Given the description of an element on the screen output the (x, y) to click on. 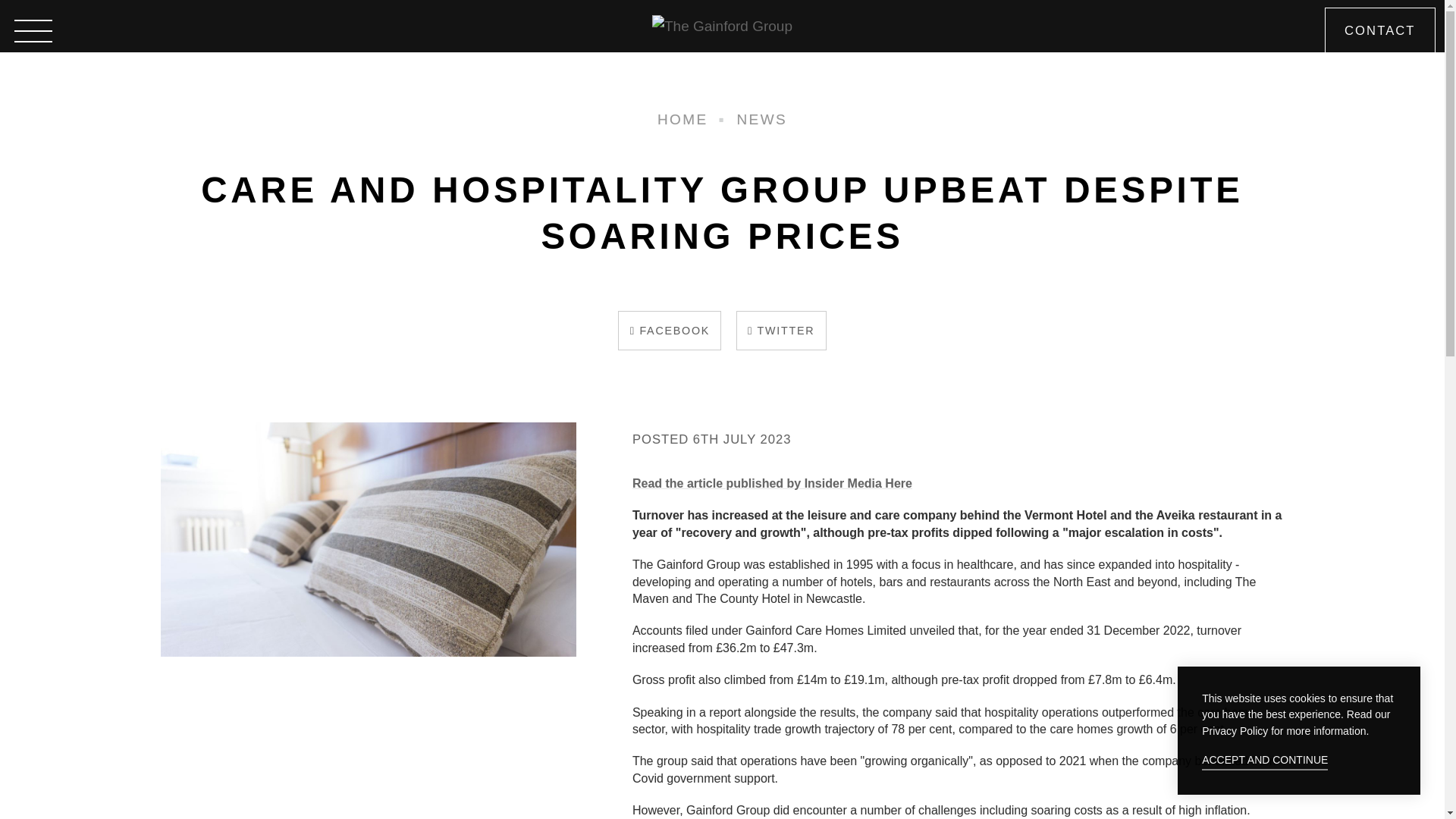
HOME (682, 118)
TWITTER (780, 330)
NEWS (761, 118)
Read the article published by Insider Media Here (771, 482)
FACEBOOK (670, 330)
CONTACT (1379, 30)
